Given the description of an element on the screen output the (x, y) to click on. 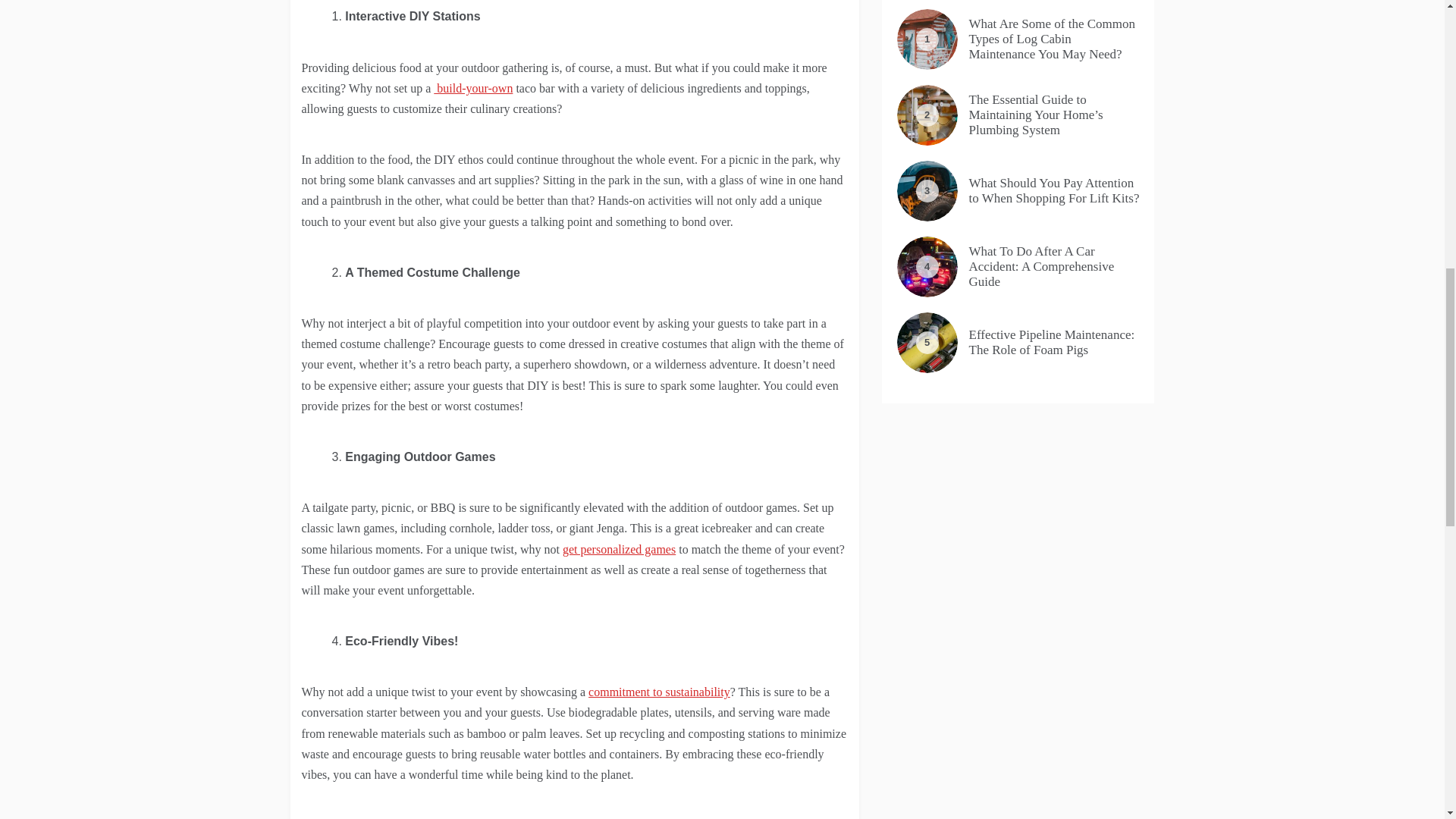
get personalized games (618, 549)
 build-your-own (472, 88)
commitment to sustainability (659, 691)
What To Do After A Car Accident: A Comprehensive Guide (1042, 266)
